Given the description of an element on the screen output the (x, y) to click on. 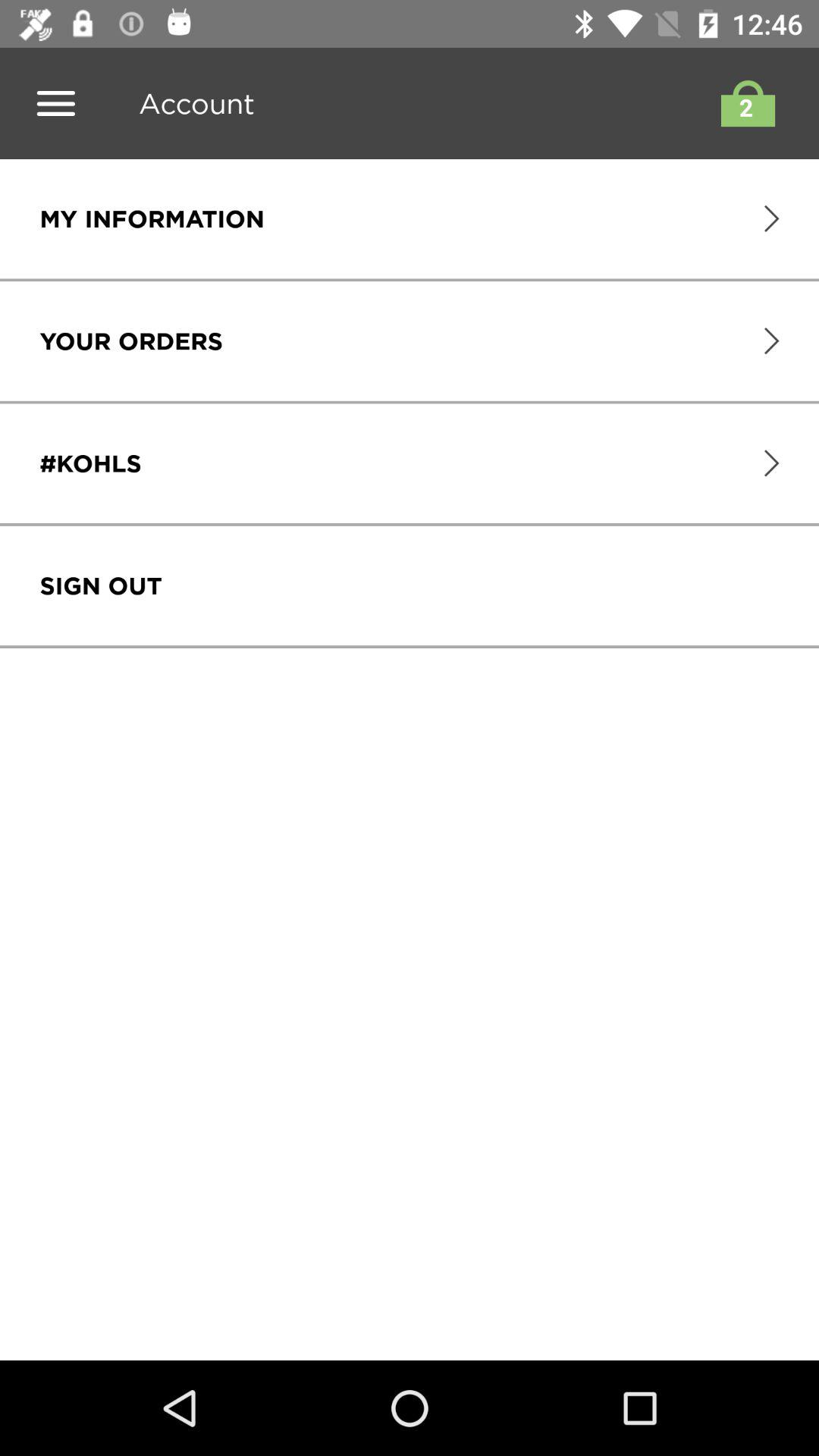
launch my information (151, 218)
